Given the description of an element on the screen output the (x, y) to click on. 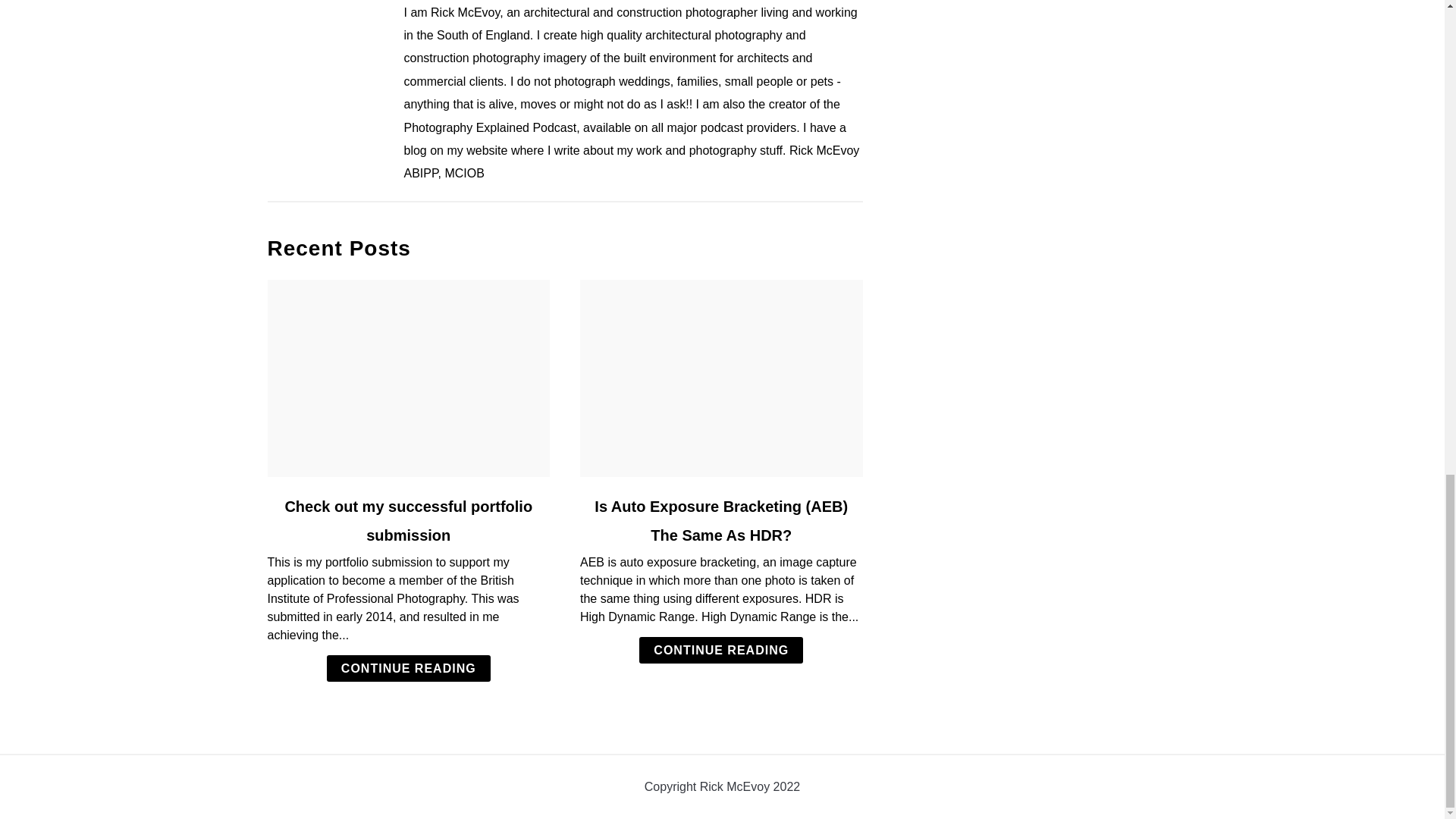
CONTINUE READING (721, 650)
CONTINUE READING (408, 668)
Check out my successful portfolio submission (407, 520)
link to Check out my successful portfolio submission (408, 378)
